Given the description of an element on the screen output the (x, y) to click on. 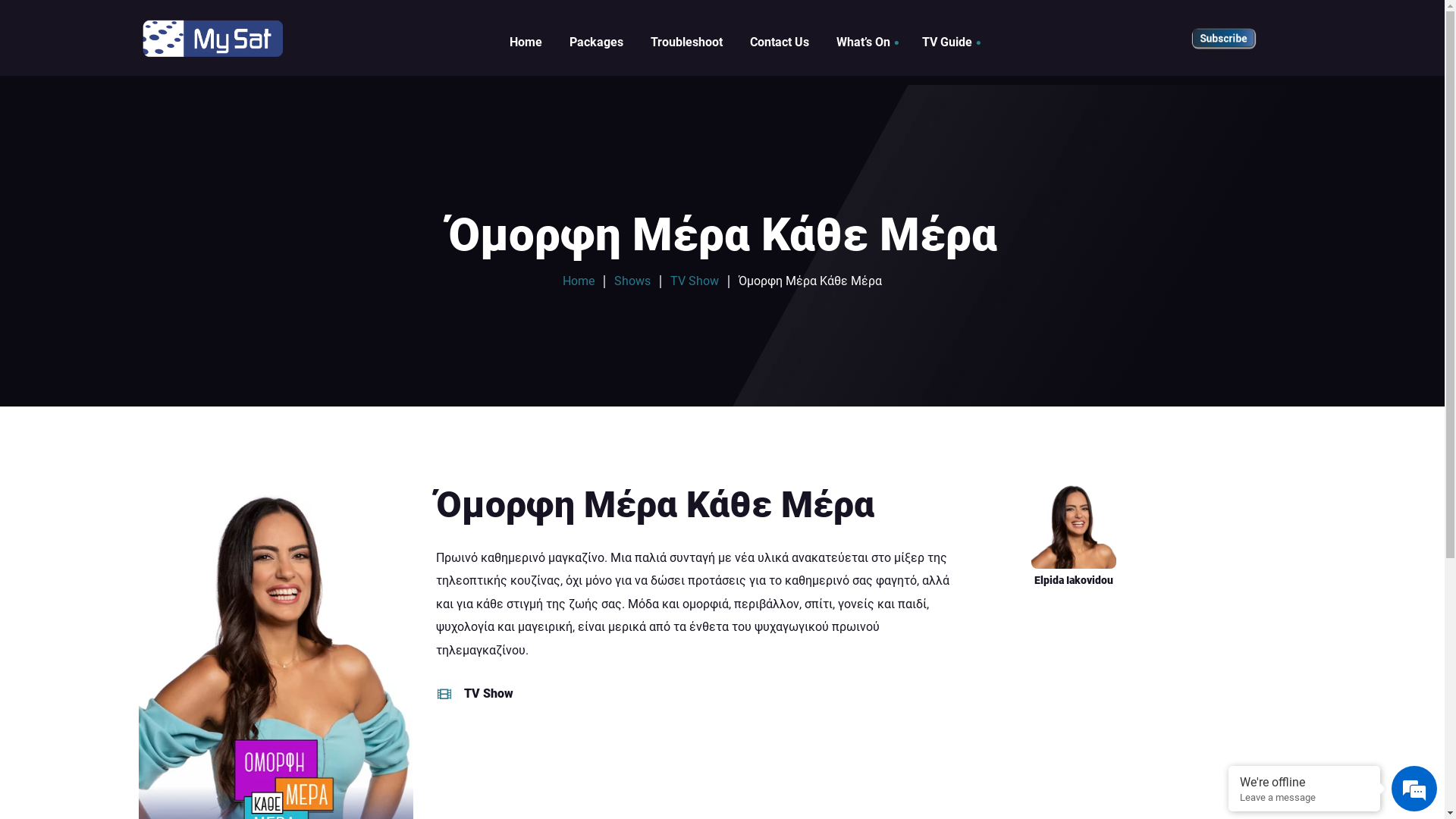
Home Element type: text (525, 42)
Packages Element type: text (595, 42)
Troubleshoot Element type: text (686, 42)
Home Element type: text (578, 280)
Elpida Iakovidou Element type: text (1073, 534)
TV Show Element type: text (694, 280)
TV Guide Element type: text (940, 42)
Contact Us Element type: text (778, 42)
Shows Element type: text (632, 280)
